Given the description of an element on the screen output the (x, y) to click on. 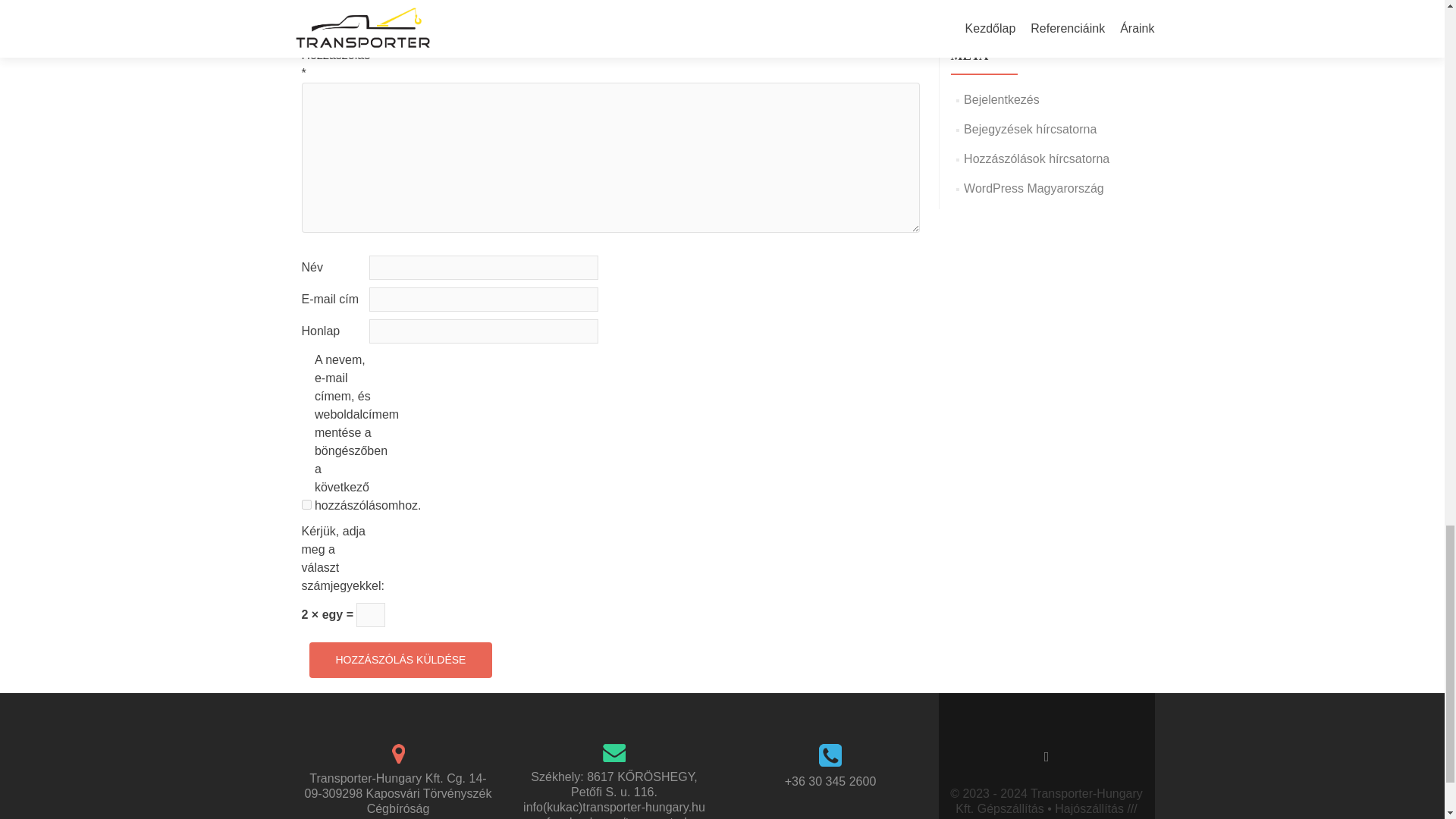
yes (306, 504)
